Given the description of an element on the screen output the (x, y) to click on. 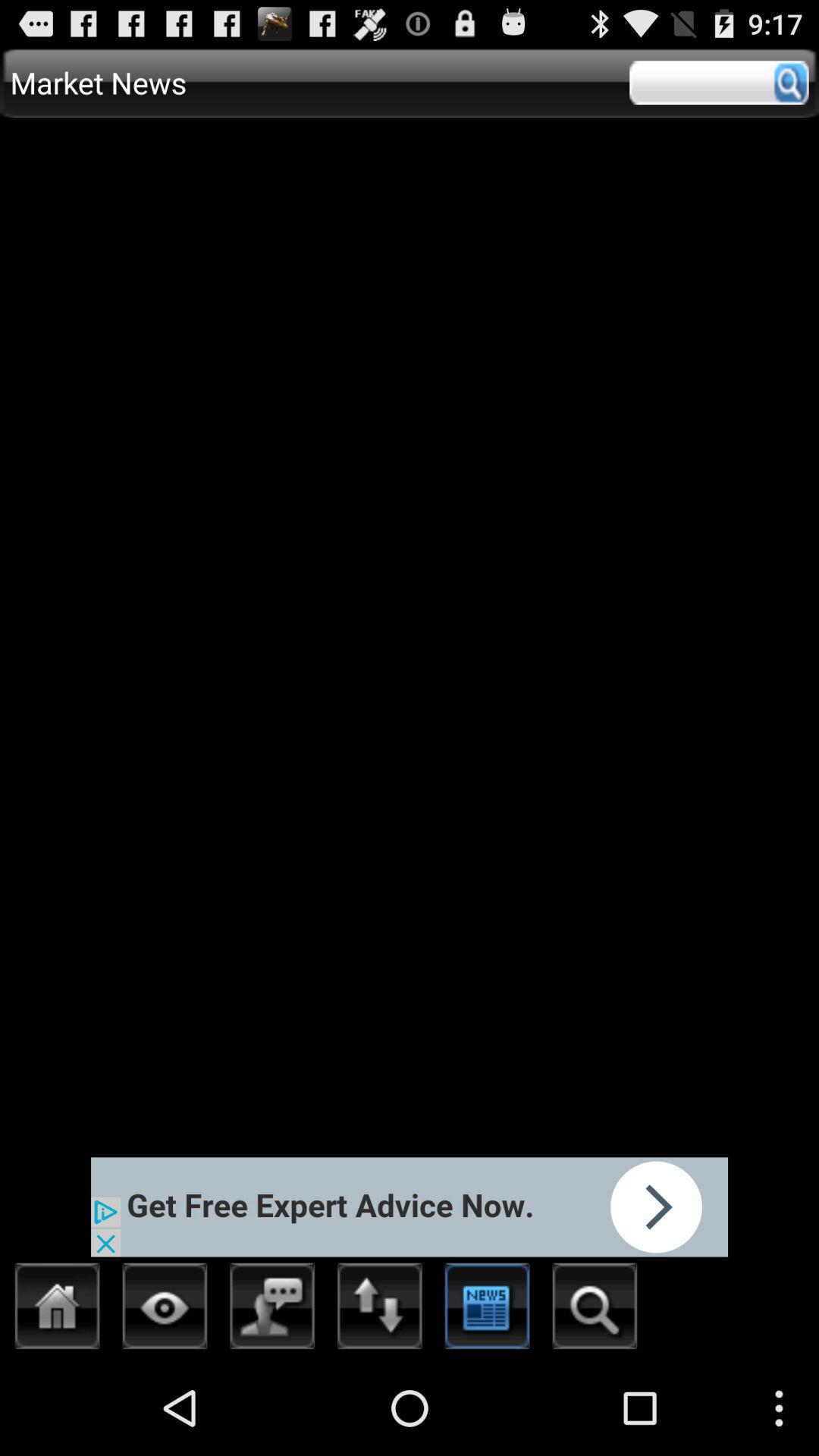
calendar (487, 1310)
